Given the description of an element on the screen output the (x, y) to click on. 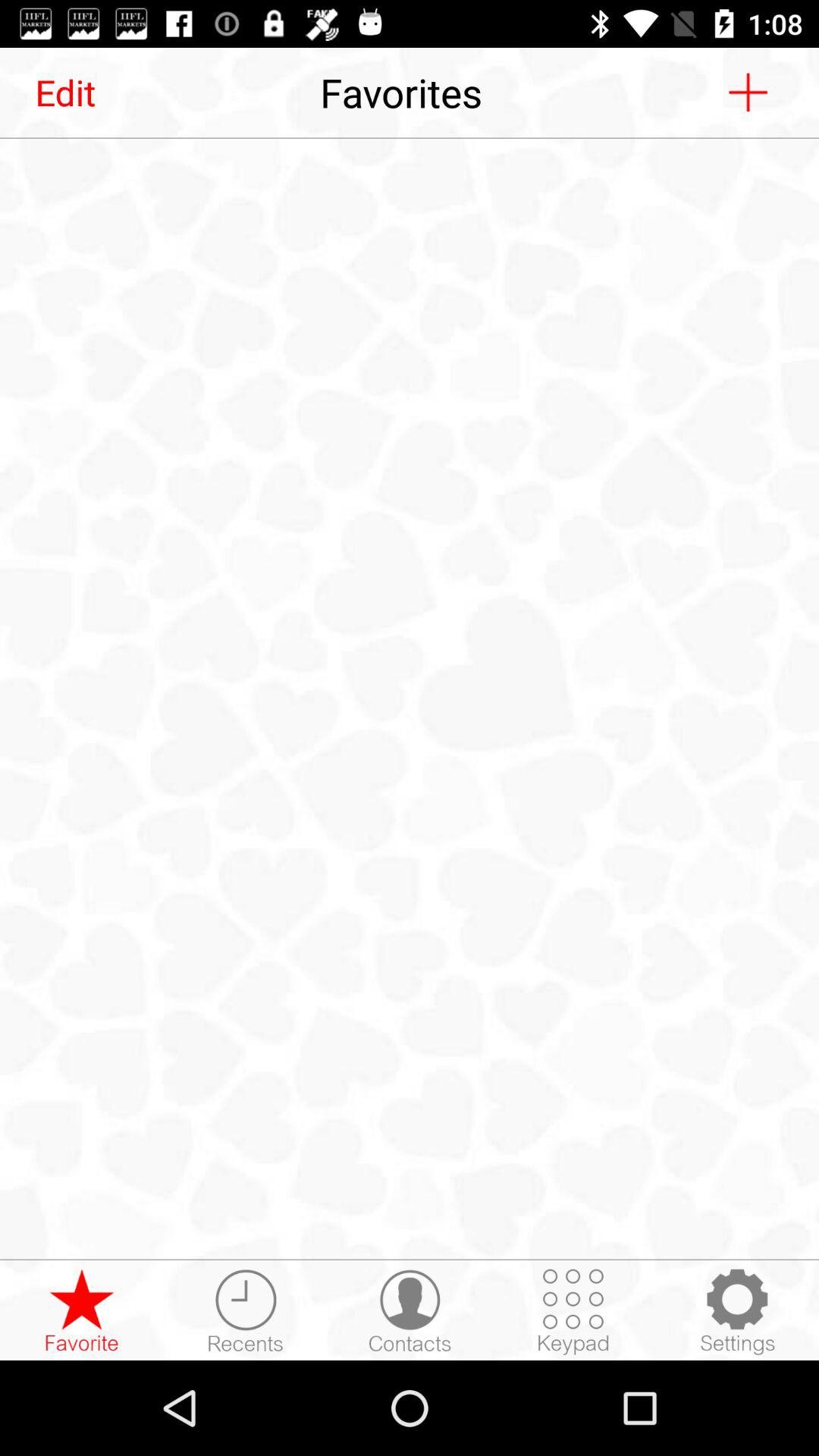
view contacts (409, 1311)
